Given the description of an element on the screen output the (x, y) to click on. 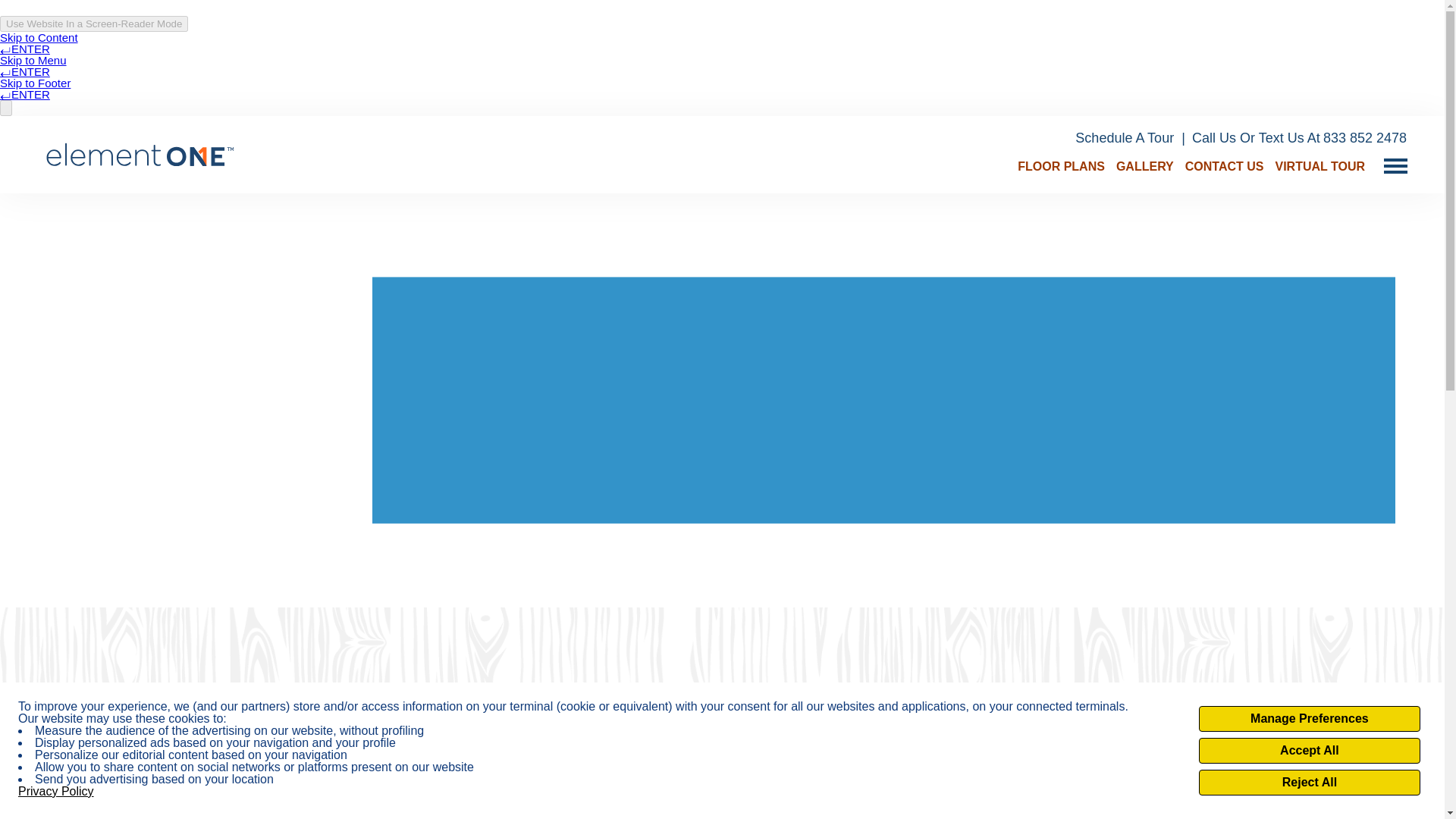
833 852 2478 (1364, 137)
FLOOR PLANS (1061, 165)
GALLERY (1144, 165)
CONTACT US (1224, 165)
Schedule A Tour (1131, 137)
Accept All (1309, 750)
Manage Preferences (1309, 718)
Reject All (1309, 782)
Privacy Policy (55, 791)
VIRTUAL TOUR (1320, 165)
